Given the description of an element on the screen output the (x, y) to click on. 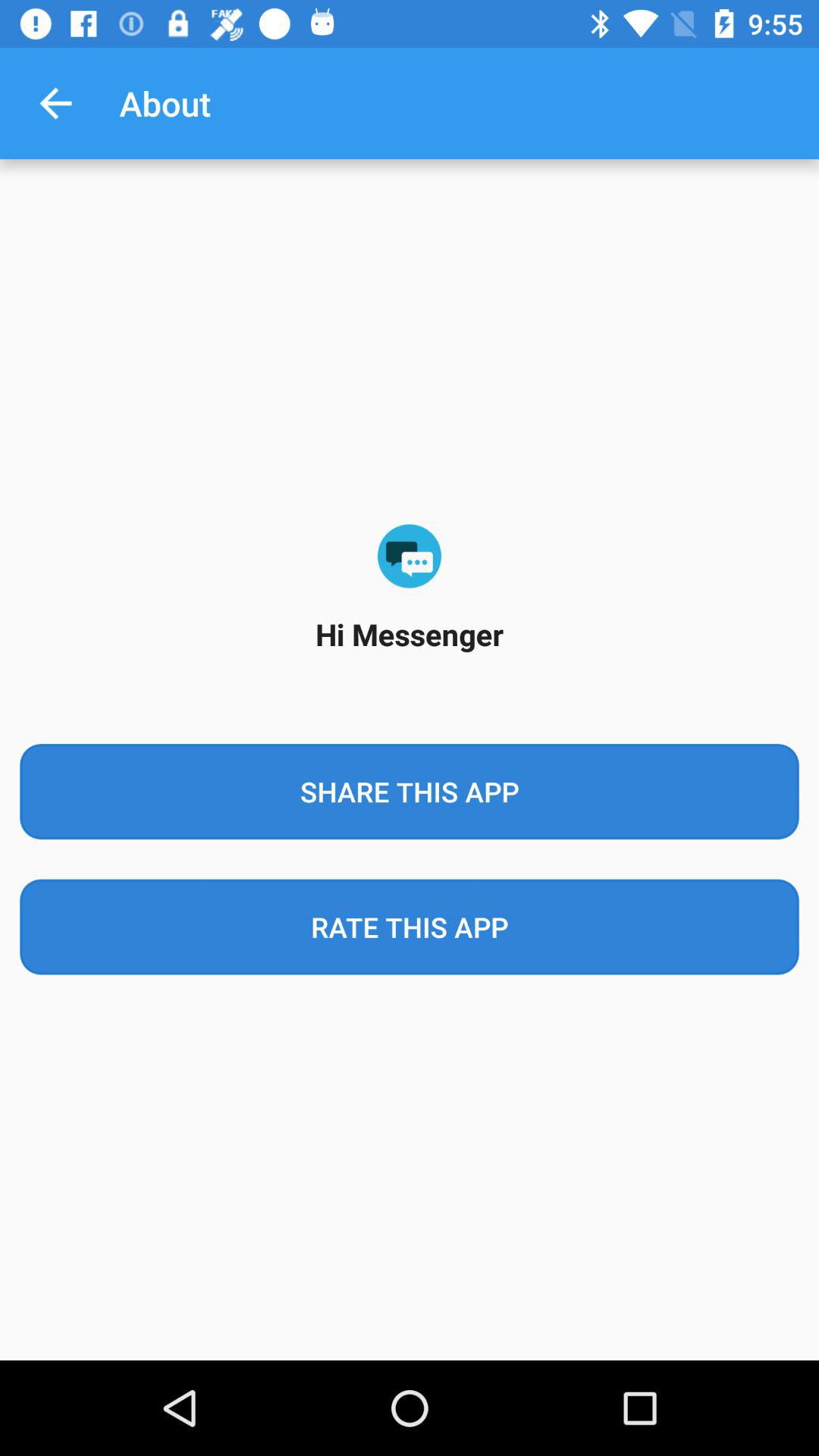
turn off the app next to about item (55, 103)
